Given the description of an element on the screen output the (x, y) to click on. 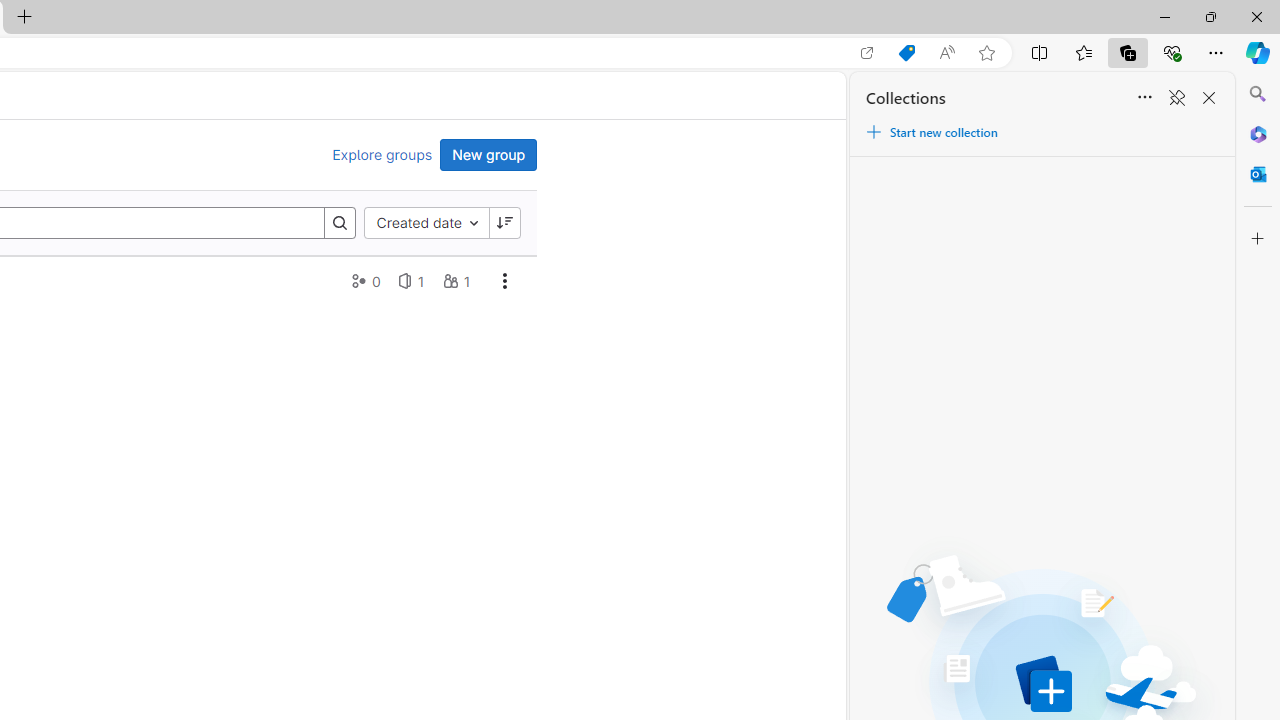
Sort (1144, 98)
Sort direction: Descending (504, 222)
Explore groups (381, 155)
Created date (426, 222)
Close Collections (1208, 98)
